Given the description of an element on the screen output the (x, y) to click on. 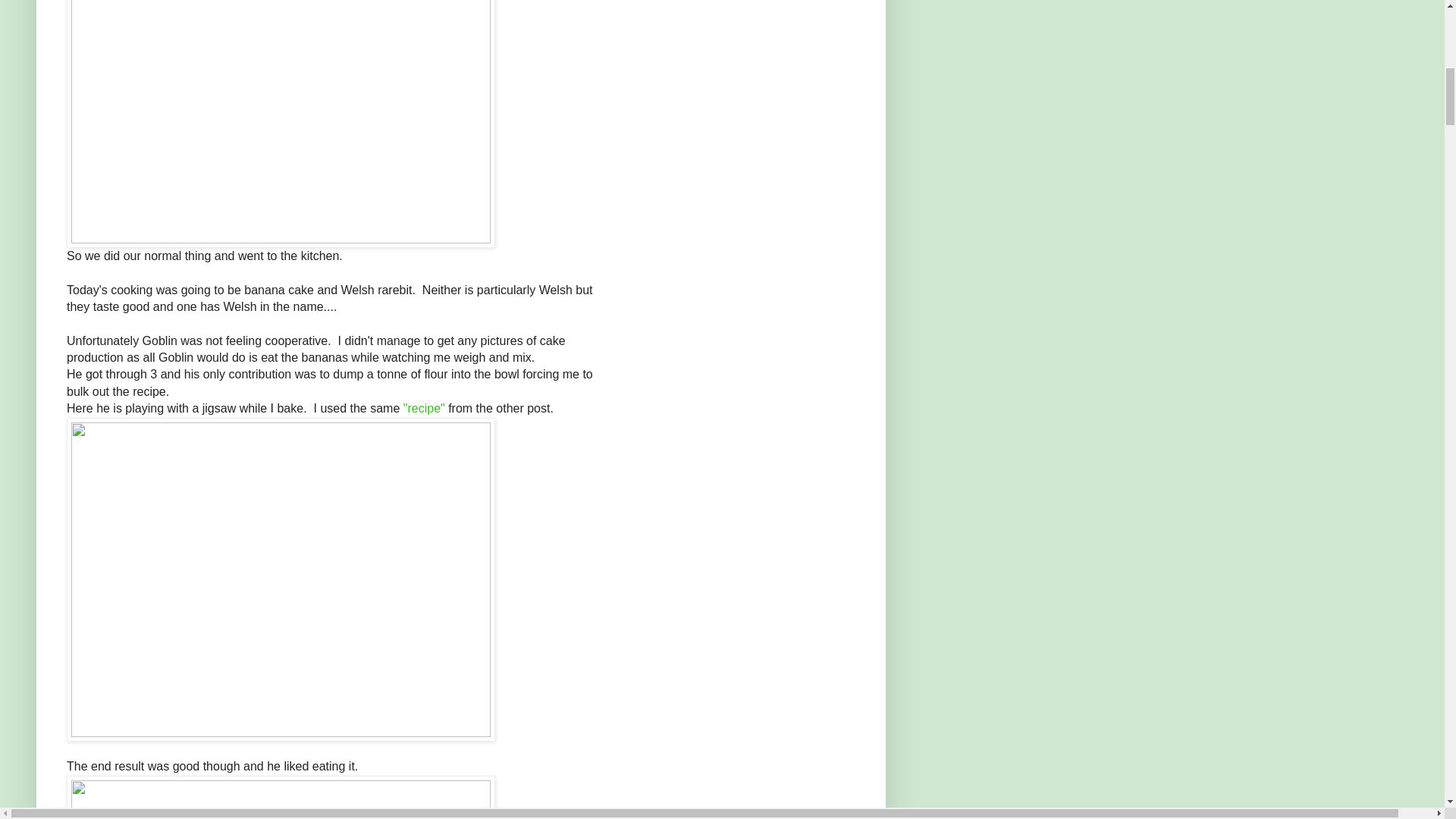
"recipe" (424, 408)
